Given the description of an element on the screen output the (x, y) to click on. 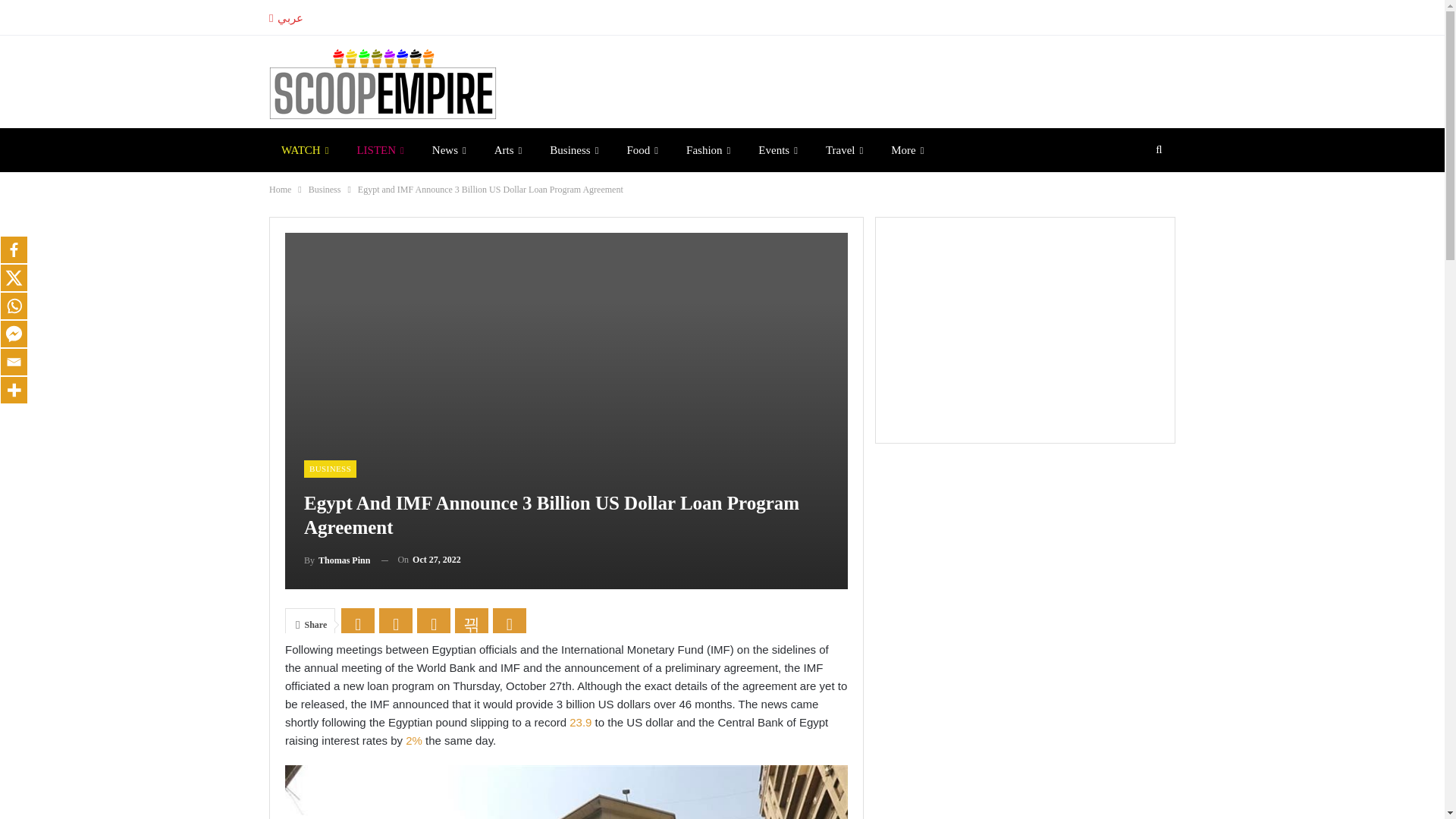
WATCH (304, 149)
News (449, 149)
Business (573, 149)
LISTEN (378, 149)
Arts (507, 149)
